Given the description of an element on the screen output the (x, y) to click on. 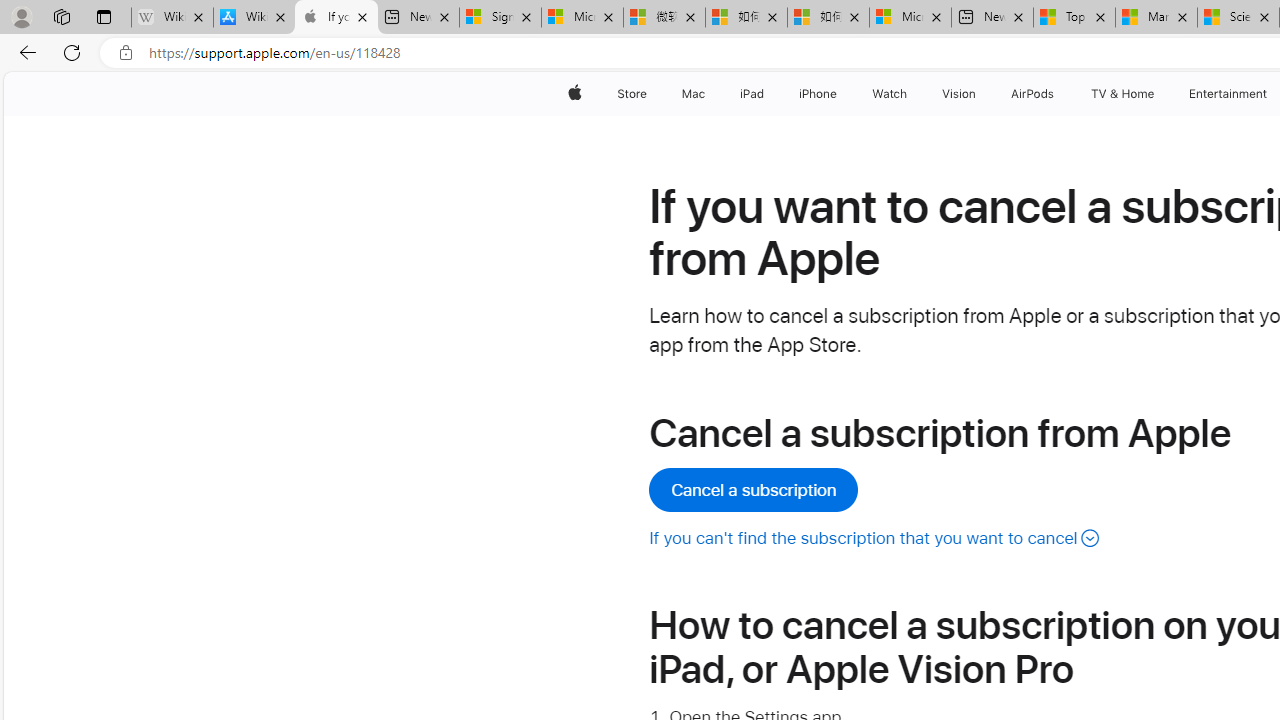
Store menu (649, 93)
iPhone (818, 93)
Store (631, 93)
Class: globalnav-submenu-trigger-item (1157, 93)
Mac (692, 93)
Apple (574, 93)
